Given the description of an element on the screen output the (x, y) to click on. 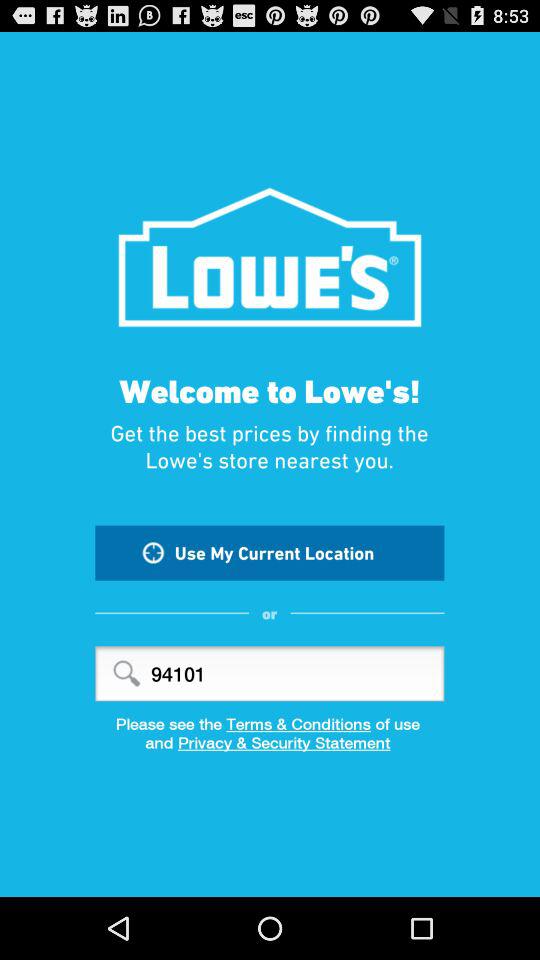
tap the item below the please see the icon (270, 749)
